Given the description of an element on the screen output the (x, y) to click on. 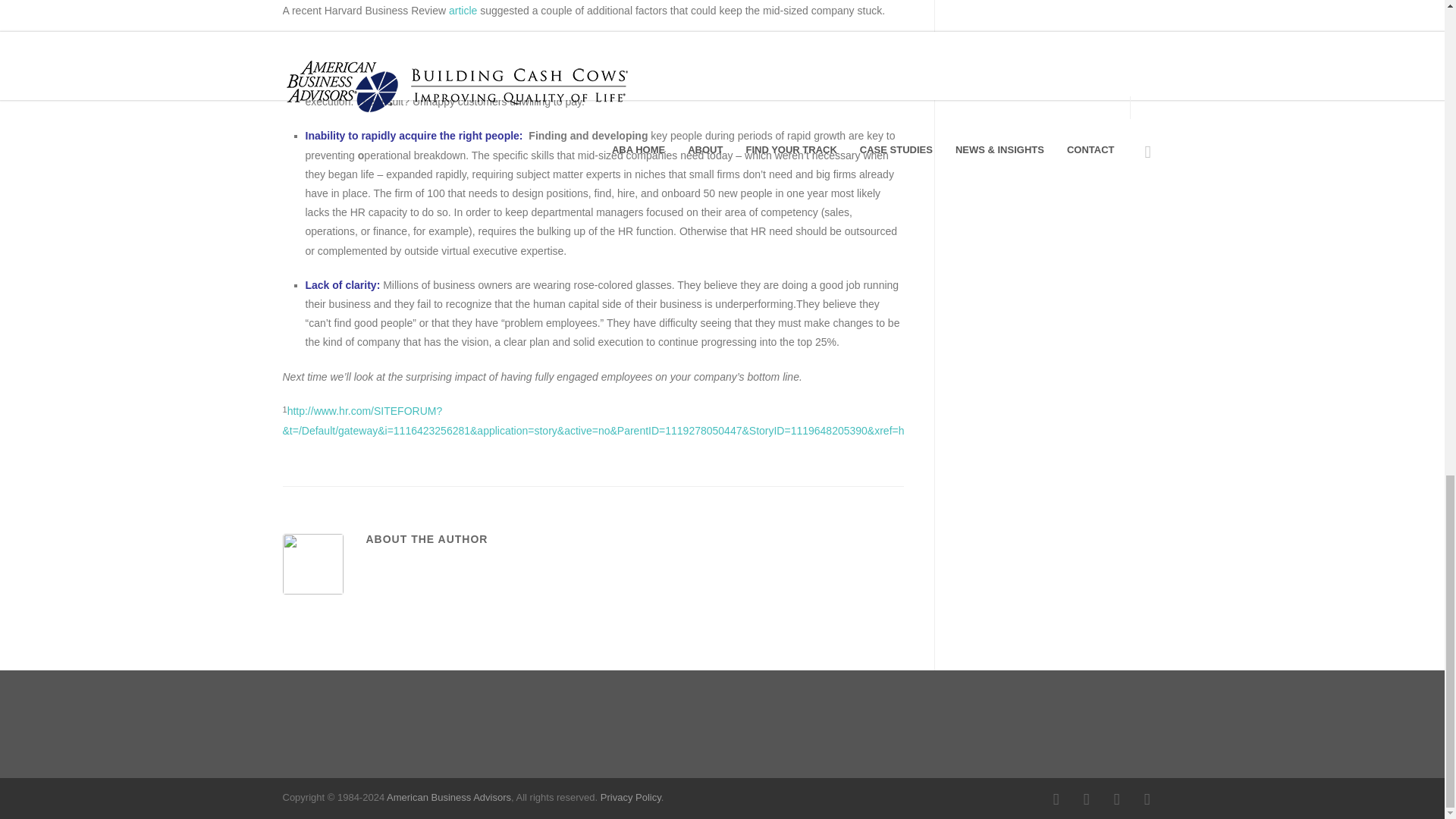
LinkedIn (1115, 798)
Twitter (1146, 798)
Facebook (1055, 798)
